Given the description of an element on the screen output the (x, y) to click on. 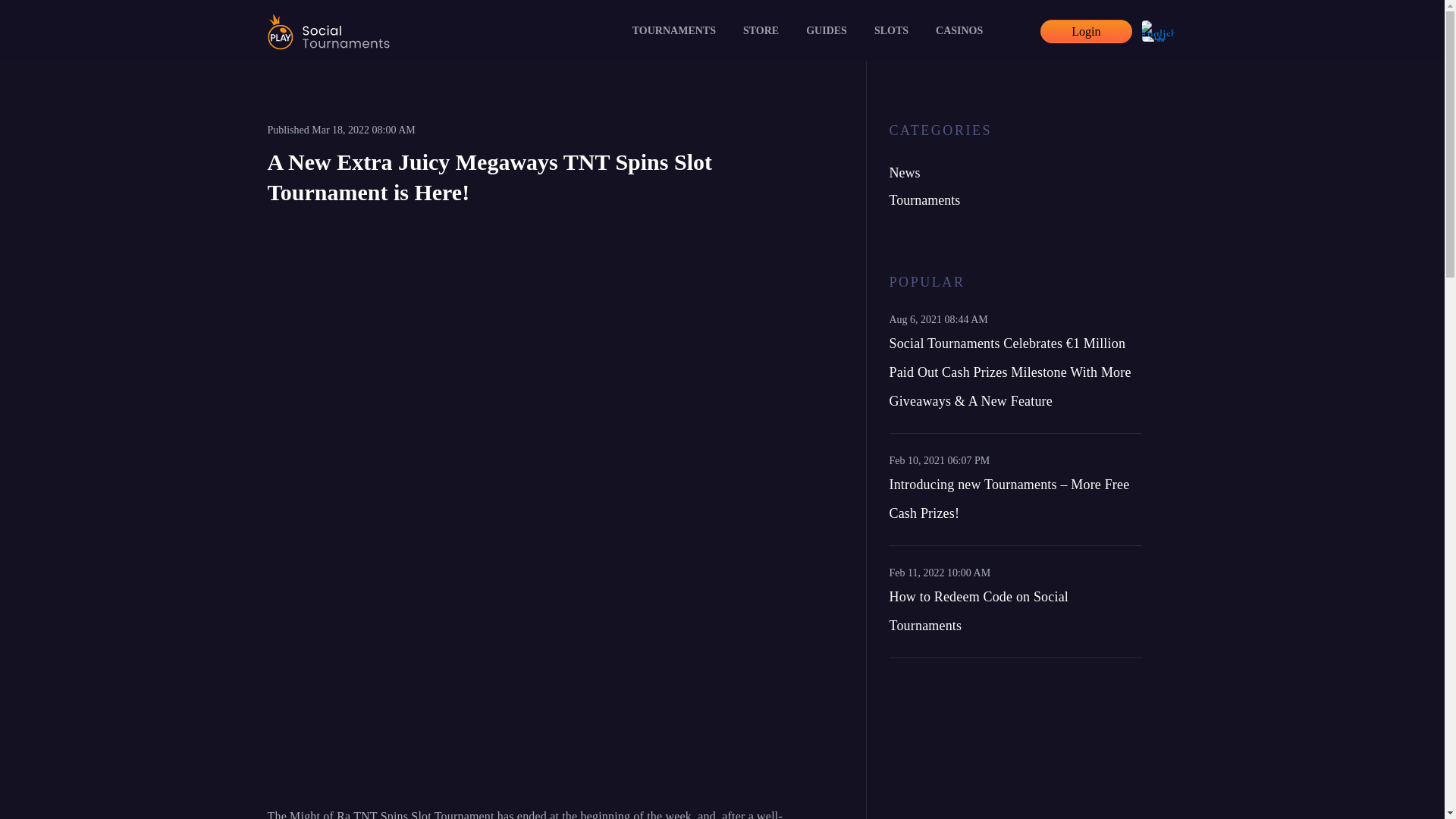
STORE (760, 30)
CASINOS (958, 30)
SLOTS (890, 30)
GUIDES (826, 30)
Login (1086, 31)
